Given the description of an element on the screen output the (x, y) to click on. 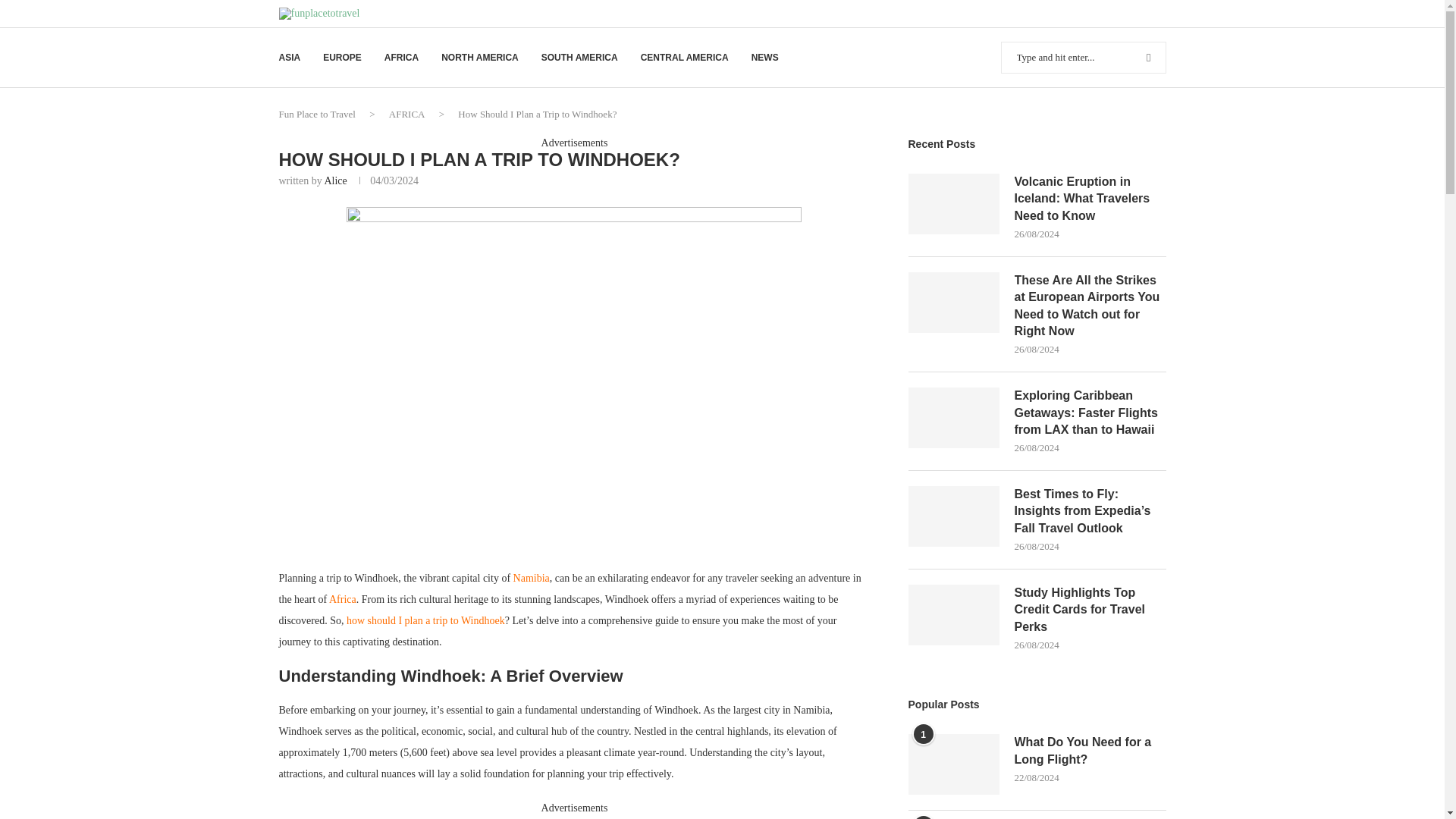
Alice (334, 180)
Fun Place to Travel (317, 113)
SOUTH AMERICA (579, 57)
AFRICA (406, 113)
Volcanic Eruption in Iceland: What Travelers Need to Know (953, 203)
Volcanic Eruption in Iceland: What Travelers Need to Know (1090, 198)
CENTRAL AMERICA (684, 57)
NORTH AMERICA (479, 57)
